Given the description of an element on the screen output the (x, y) to click on. 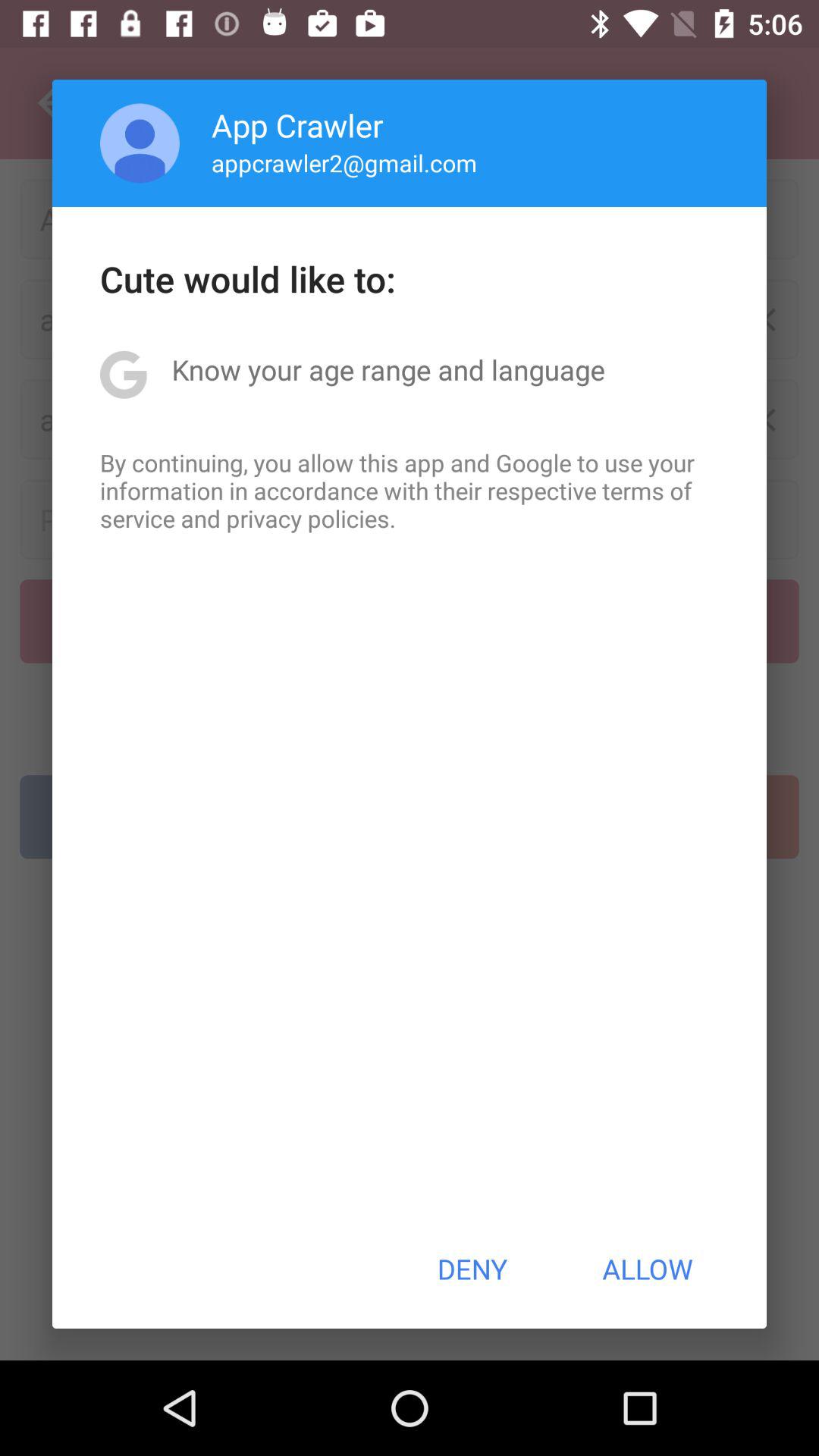
jump until the app crawler item (297, 124)
